Given the description of an element on the screen output the (x, y) to click on. 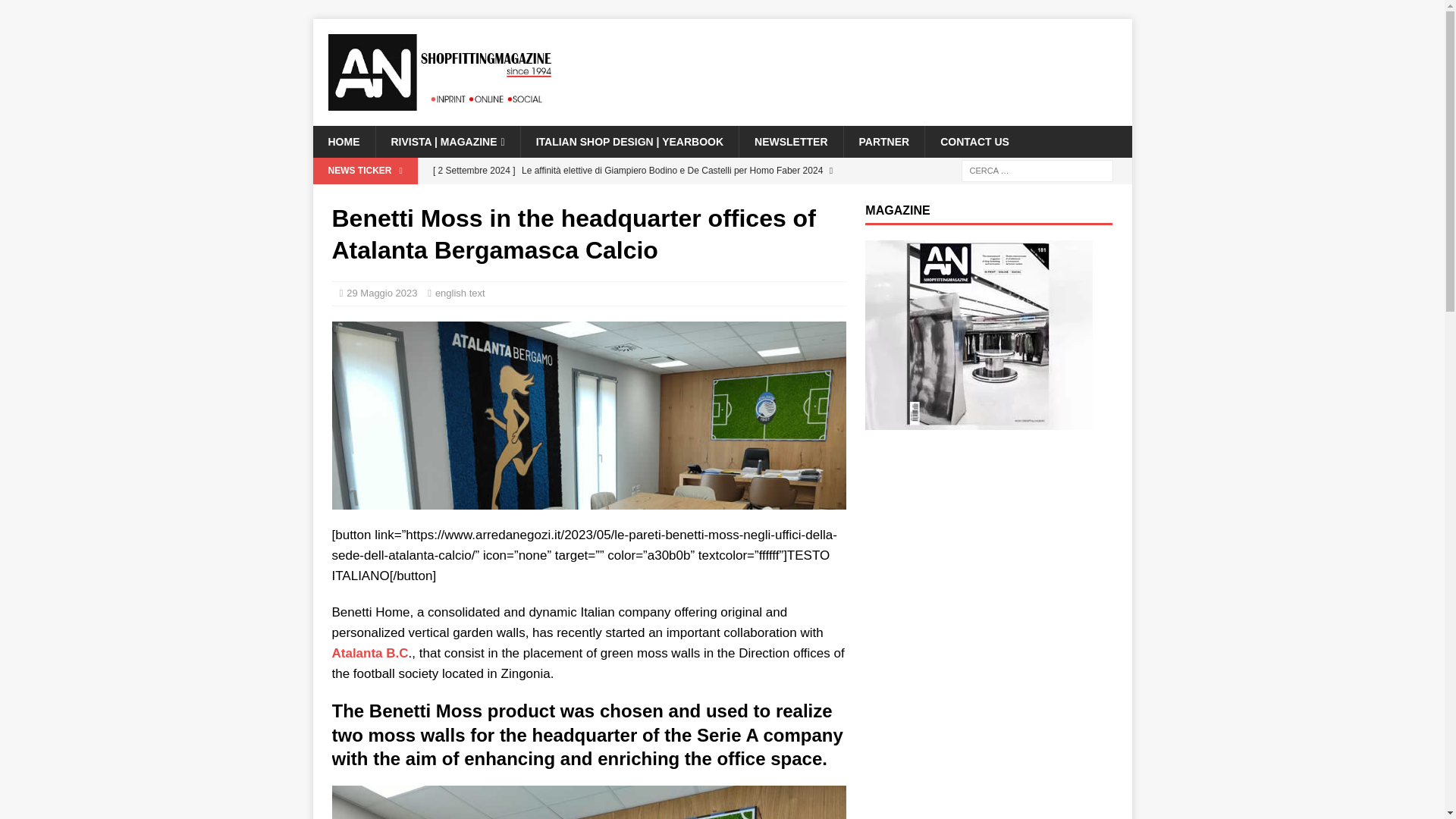
english text (459, 292)
PARTNER (883, 142)
Cerca (56, 11)
CONTACT US (974, 142)
HOME (343, 142)
NEWSLETTER (790, 142)
29 Maggio 2023 (381, 292)
Atalanta B.C (370, 653)
